Given the description of an element on the screen output the (x, y) to click on. 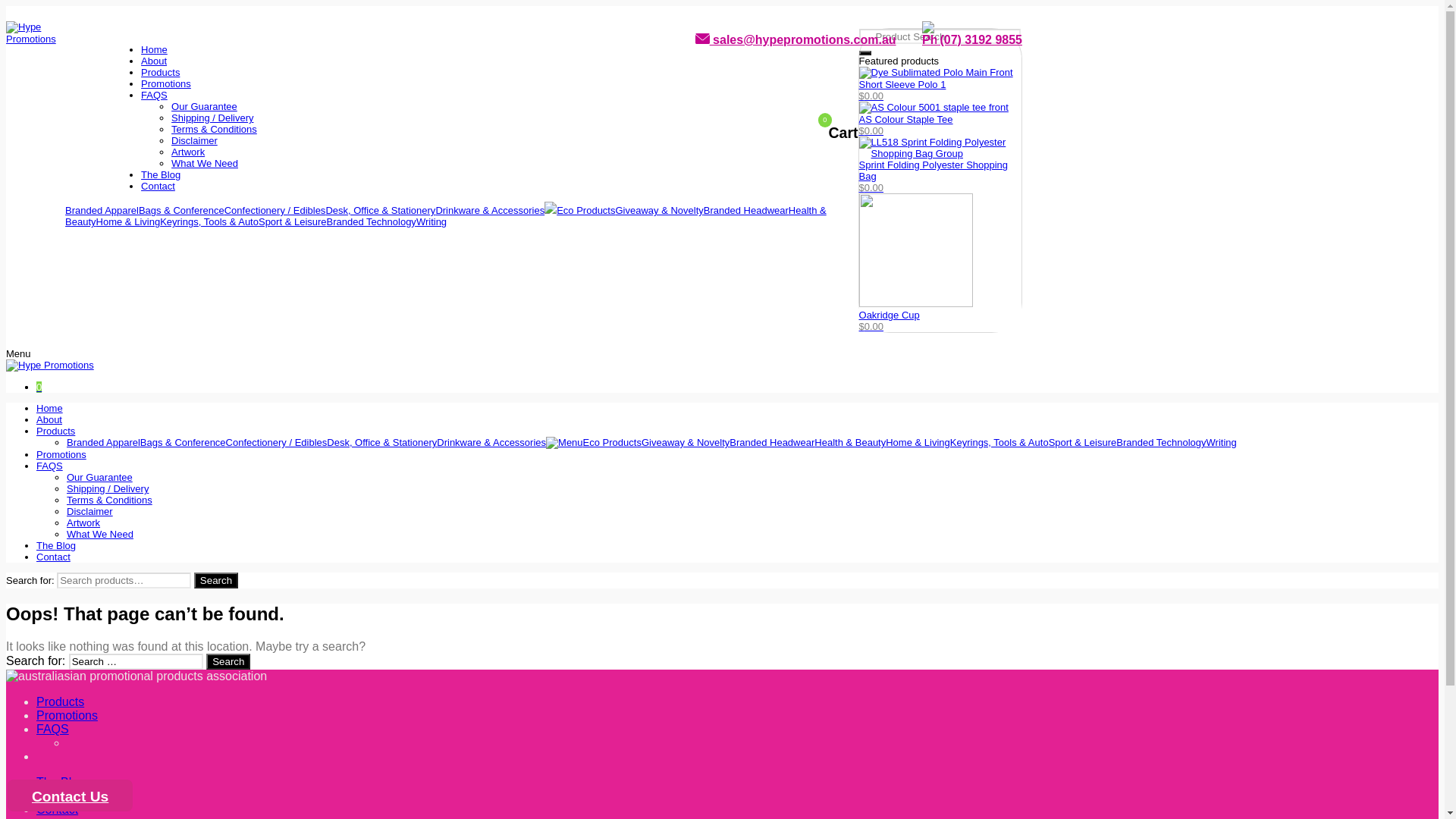
Giveaway & Novelty Element type: text (658, 210)
Our Guarantee Element type: text (99, 477)
Search Element type: text (228, 661)
About Element type: text (49, 419)
Search Element type: text (216, 580)
The Blog Element type: text (55, 545)
Keyrings, Tools & Auto Element type: text (209, 221)
Promotions Element type: text (66, 715)
Branded Headwear Element type: text (745, 210)
Contact Element type: text (53, 556)
Sport & Leisure Element type: text (292, 221)
Contact Element type: text (57, 809)
Branded Apparel Element type: text (101, 210)
Products Element type: text (160, 72)
Products Element type: text (55, 430)
Branded Technology Element type: text (1160, 442)
(07) 3192 9855 Element type: text (972, 39)
Artwork Element type: text (187, 151)
Writing Element type: text (1221, 442)
Our Guarantee Element type: text (204, 106)
Hype Promotions Element type: hover (35, 32)
FAQS Element type: text (154, 94)
Oakridge Cup
$0.00 Element type: text (940, 262)
What We Need Element type: text (99, 533)
Promotions Element type: text (166, 83)
Health & Beauty Element type: text (849, 442)
Disclaimer Element type: text (194, 140)
About Element type: text (153, 60)
Desk, Office & Stationery Element type: text (381, 442)
Desk, Office & Stationery Element type: text (380, 210)
Bags & Conference Element type: text (181, 210)
Disclaimer Element type: text (89, 511)
Giveaway & Novelty Element type: text (685, 442)
Shipping / Delivery Element type: text (212, 117)
Home & Living Element type: text (128, 221)
Home Element type: text (49, 408)
Confectionery / Edibles Element type: text (275, 210)
Terms & Conditions Element type: text (109, 499)
Shipping / Delivery Element type: text (107, 488)
What We Need Element type: text (204, 163)
0 Element type: text (38, 386)
FAQS Element type: text (52, 728)
Terms & Conditions Element type: text (214, 128)
Confectionery / Edibles Element type: text (276, 442)
Short Sleeve Polo 1
$0.00 Element type: text (940, 83)
Menu Element type: text (18, 353)
Health & Beauty Element type: text (445, 215)
Eco Products Element type: text (579, 210)
Hype Promotions Element type: hover (50, 365)
Products Element type: text (60, 701)
Bags & Conference Element type: text (182, 442)
Branded Headwear Element type: text (771, 442)
Writing Element type: text (431, 221)
Keyrings, Tools & Auto Element type: text (999, 442)
Drinkware & Accessories Element type: text (491, 442)
Contact Element type: text (158, 185)
Promotions Element type: text (61, 454)
Branded Apparel Element type: text (103, 442)
Eco Products Element type: text (593, 442)
Contact Us Element type: text (69, 795)
Artwork Element type: text (83, 522)
FAQS Element type: text (49, 465)
Drinkware & Accessories Element type: text (489, 210)
The Blog Element type: text (60, 781)
Sprint Folding Polyester Shopping Bag
$0.00 Element type: text (940, 164)
AS Colour Staple Tee
$0.00 Element type: text (940, 118)
About Us Element type: text (61, 795)
sales@hypepromotions.com.au Element type: text (795, 39)
Sport & Leisure Element type: text (1082, 442)
Home Element type: text (154, 49)
Home & Living Element type: text (917, 442)
The Blog Element type: text (160, 174)
Branded Technology Element type: text (371, 221)
